Given the description of an element on the screen output the (x, y) to click on. 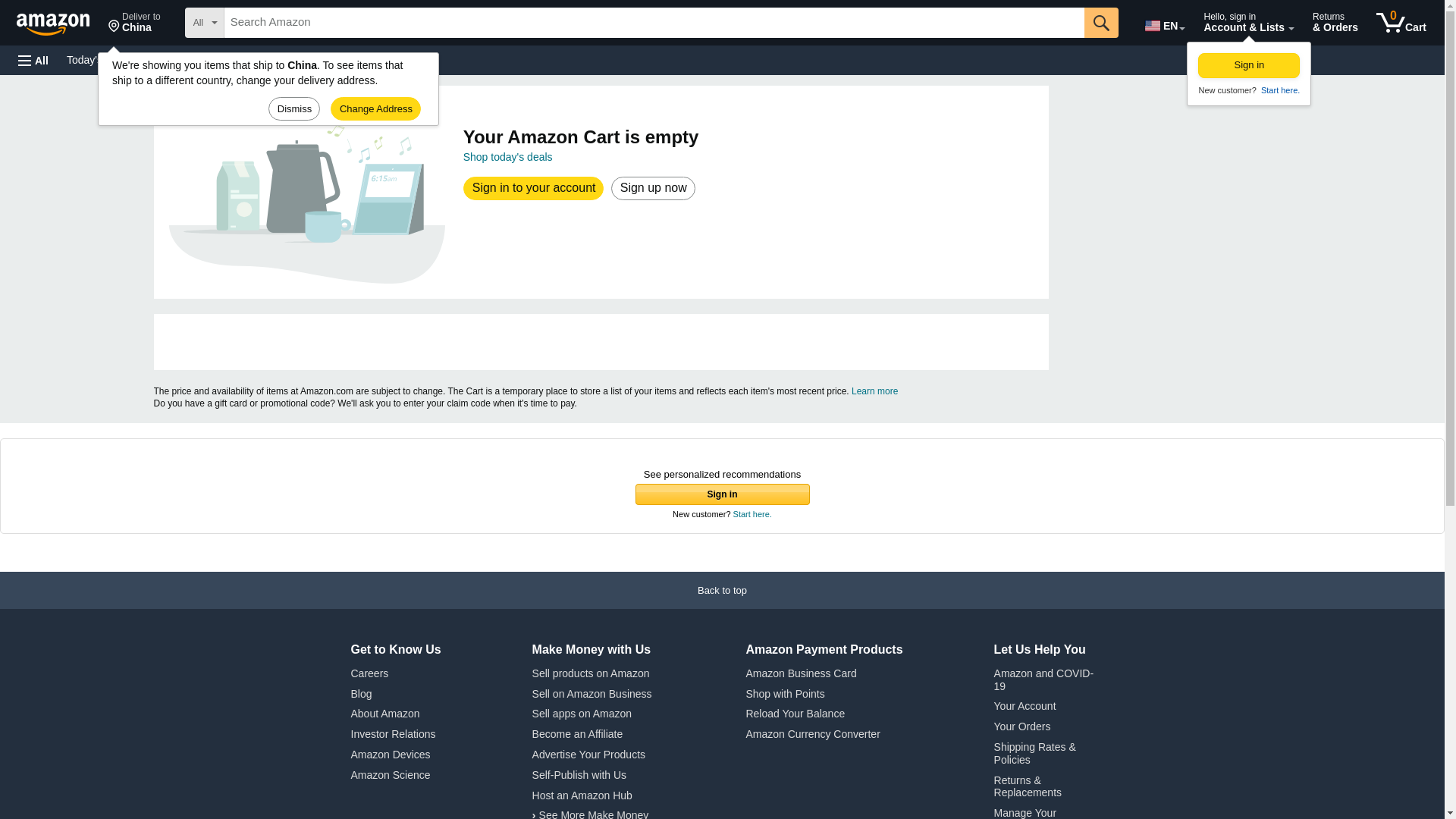
Skip to main content (60, 21)
Sign in (1249, 65)
Shop today's deals (1401, 22)
EN (134, 22)
All (508, 156)
Sell (1163, 22)
Start here. (33, 60)
